Given the description of an element on the screen output the (x, y) to click on. 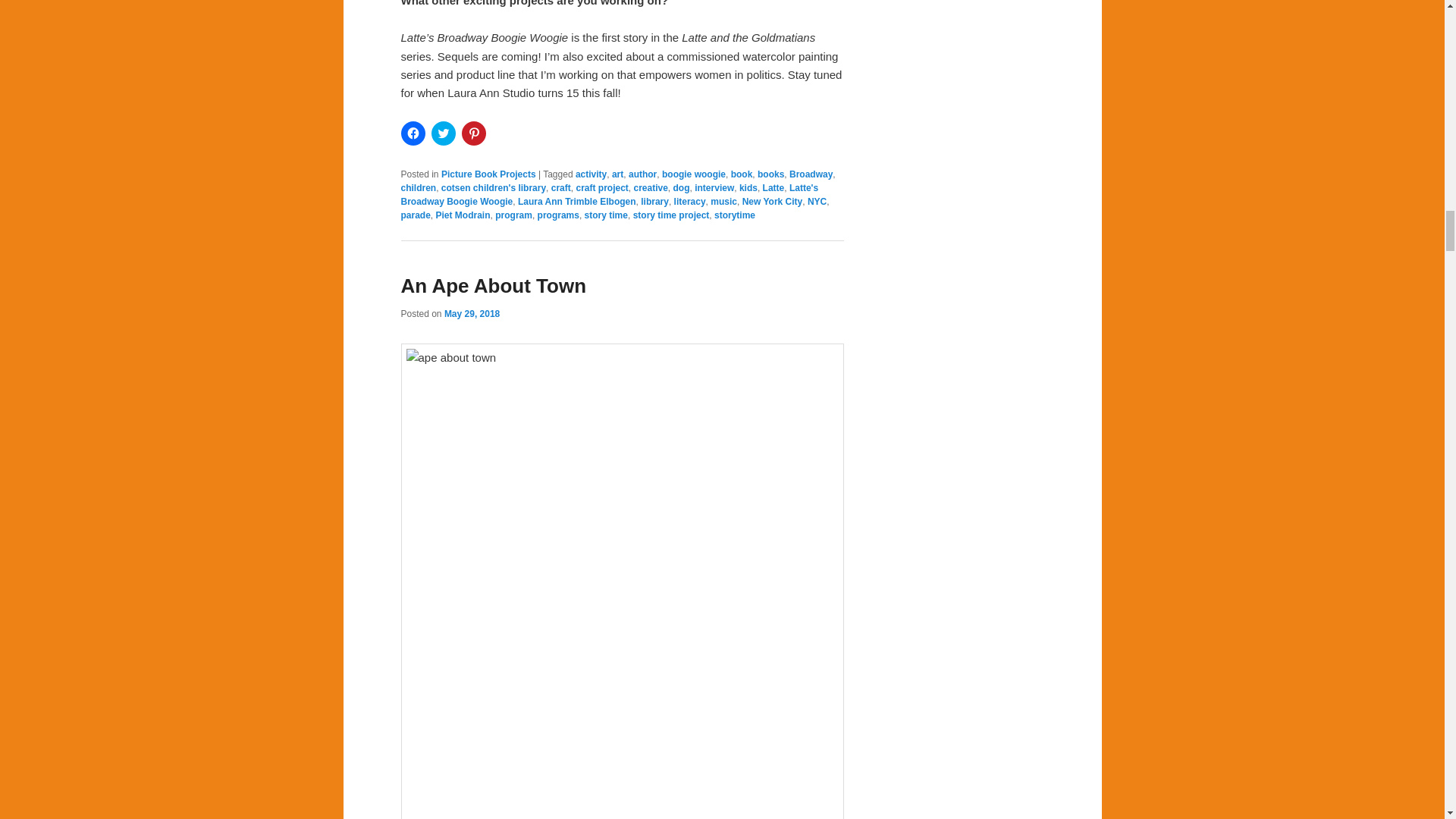
activity (591, 173)
creative (649, 187)
interview (713, 187)
Latte (773, 187)
Broadway (810, 173)
kids (748, 187)
craft project (601, 187)
1:37 pm (471, 313)
Latte's Broadway Boogie Woogie (609, 194)
author (642, 173)
art (617, 173)
Click to share on Facebook (412, 133)
Picture Book Projects (488, 173)
Click to share on Pinterest (472, 133)
Click to share on Twitter (442, 133)
